Given the description of an element on the screen output the (x, y) to click on. 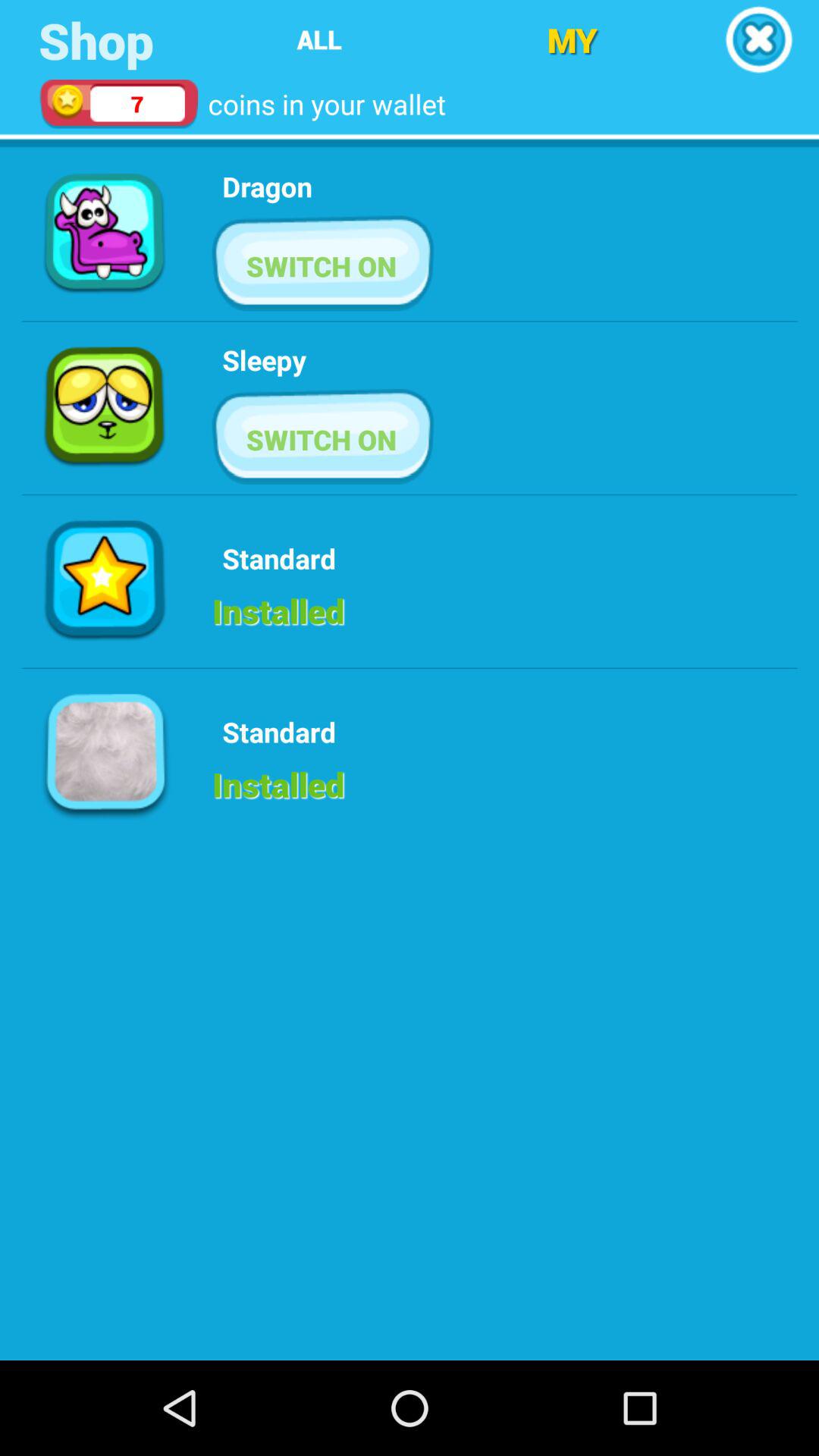
turn on the icon above the switch on item (267, 186)
